Given the description of an element on the screen output the (x, y) to click on. 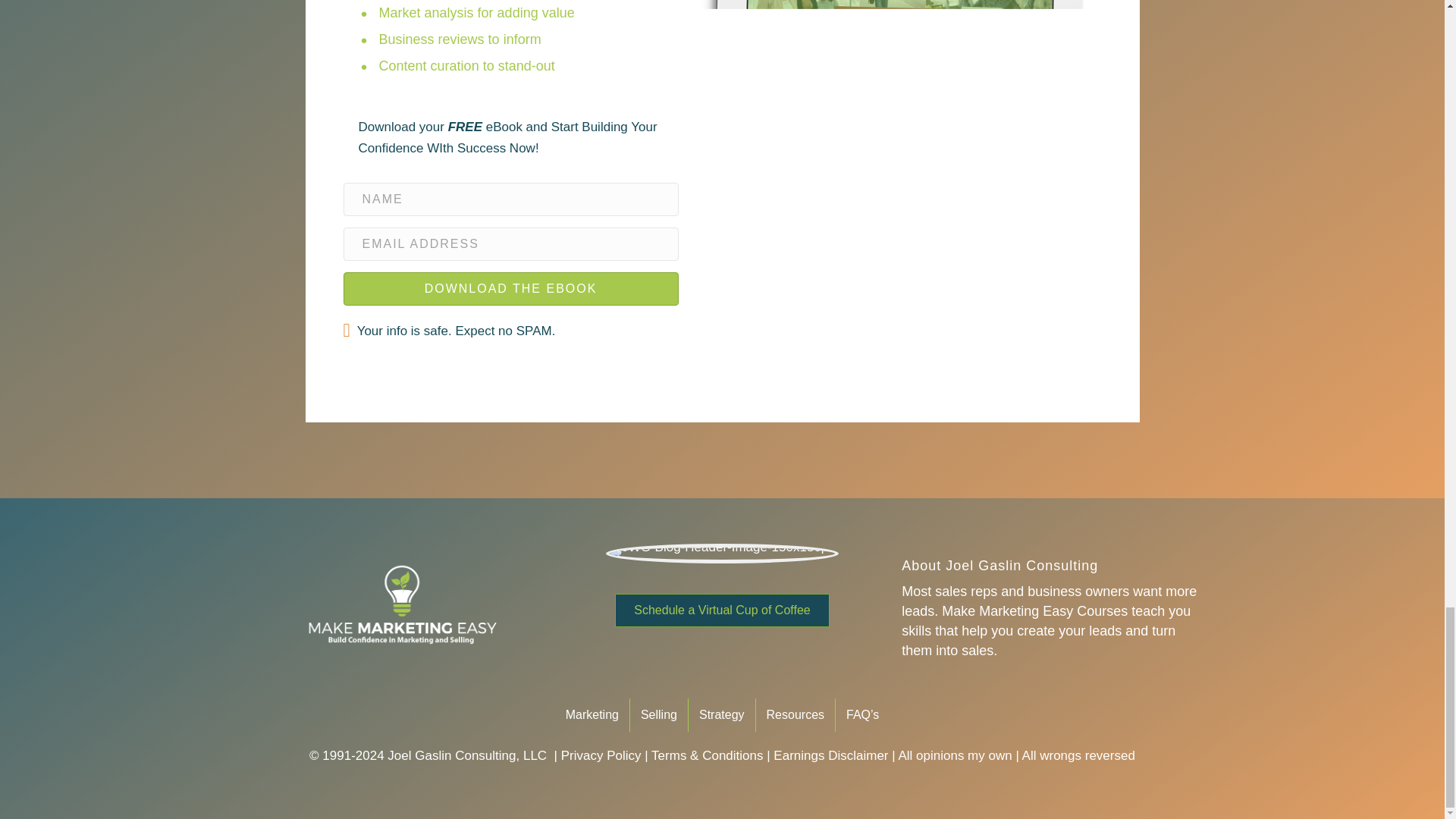
JWG-Blog-Header-Image-150x150px (721, 553)
Joel G Mockup iPad2 (889, 146)
makemarketingeasy-logo-v4-patreon-1.1 (400, 607)
